Given the description of an element on the screen output the (x, y) to click on. 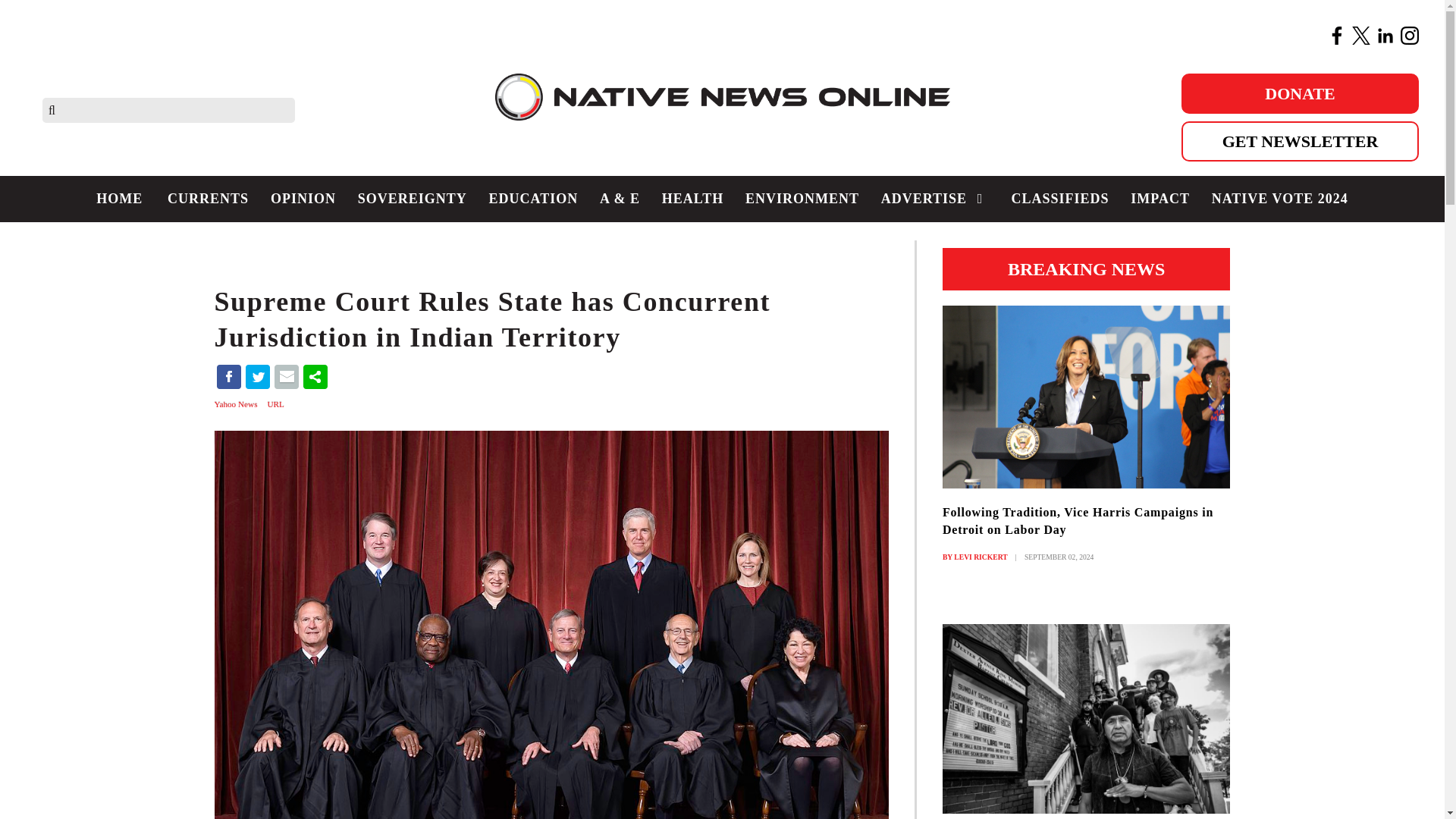
EDUCATION (532, 198)
HOME (119, 198)
CLASSIFIEDS (1059, 198)
OPINION (302, 198)
NATIVE VOTE 2024 (1279, 198)
Yahoo News (237, 404)
DONATE (1299, 93)
ENVIRONMENT (802, 198)
HEALTH (692, 198)
URL (276, 404)
